Given the description of an element on the screen output the (x, y) to click on. 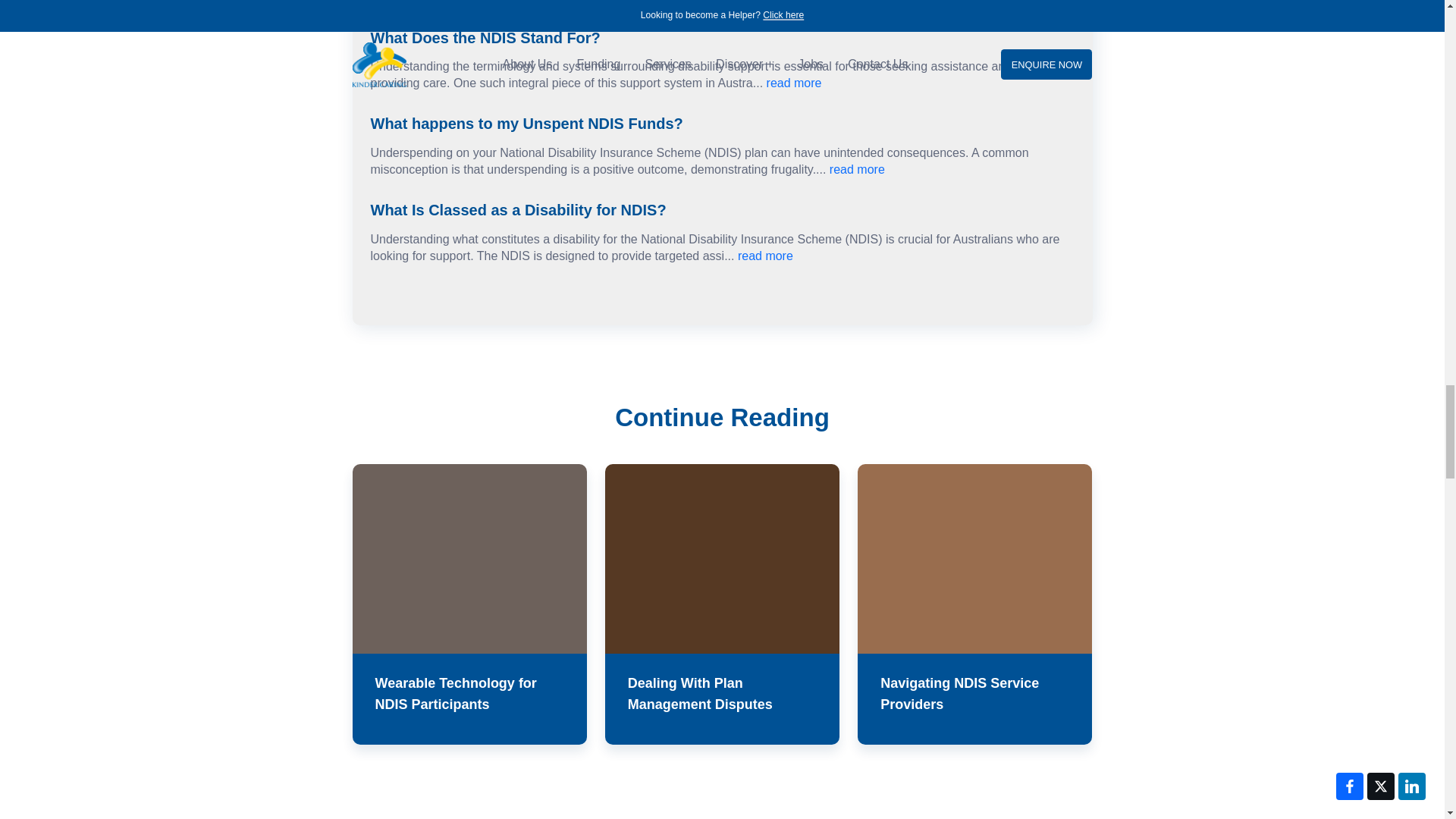
read more (794, 82)
Dealing With Plan Management Disputes 2 (722, 558)
read more (766, 2)
read more (857, 169)
read more (765, 255)
Wearable Technology for NDIS Participants 1 (469, 558)
Navigating NDIS Service Providers 3 (974, 558)
